Given the description of an element on the screen output the (x, y) to click on. 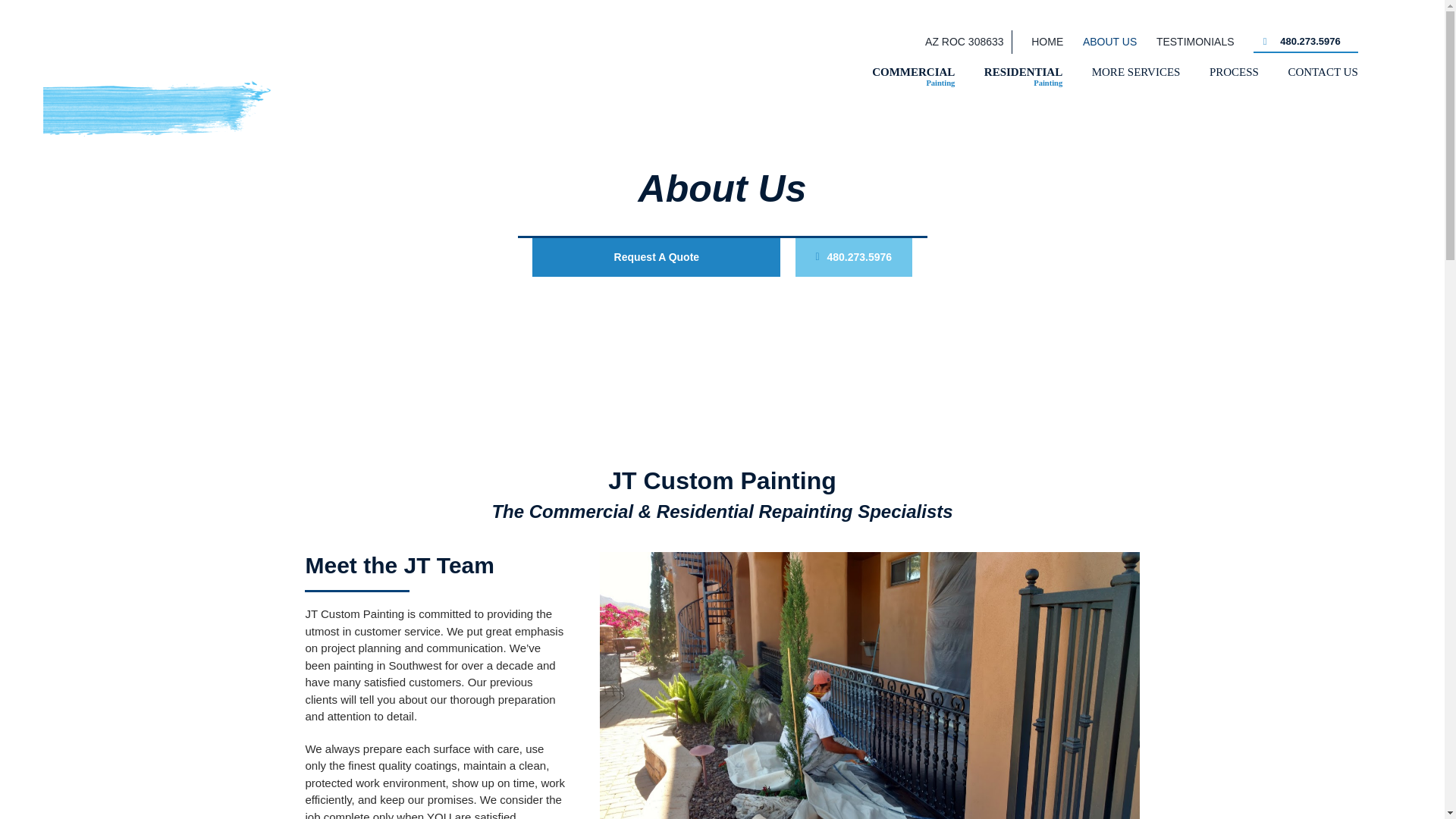
Request A Quote (656, 257)
480.273.5976 (1305, 42)
CONTACT US (1321, 71)
AZ ROC 308633 (964, 42)
PROCESS (1234, 71)
HOME (1046, 42)
TESTIMONIALS (1195, 42)
480.273.5976 (913, 77)
ABOUT US (852, 257)
